Given the description of an element on the screen output the (x, y) to click on. 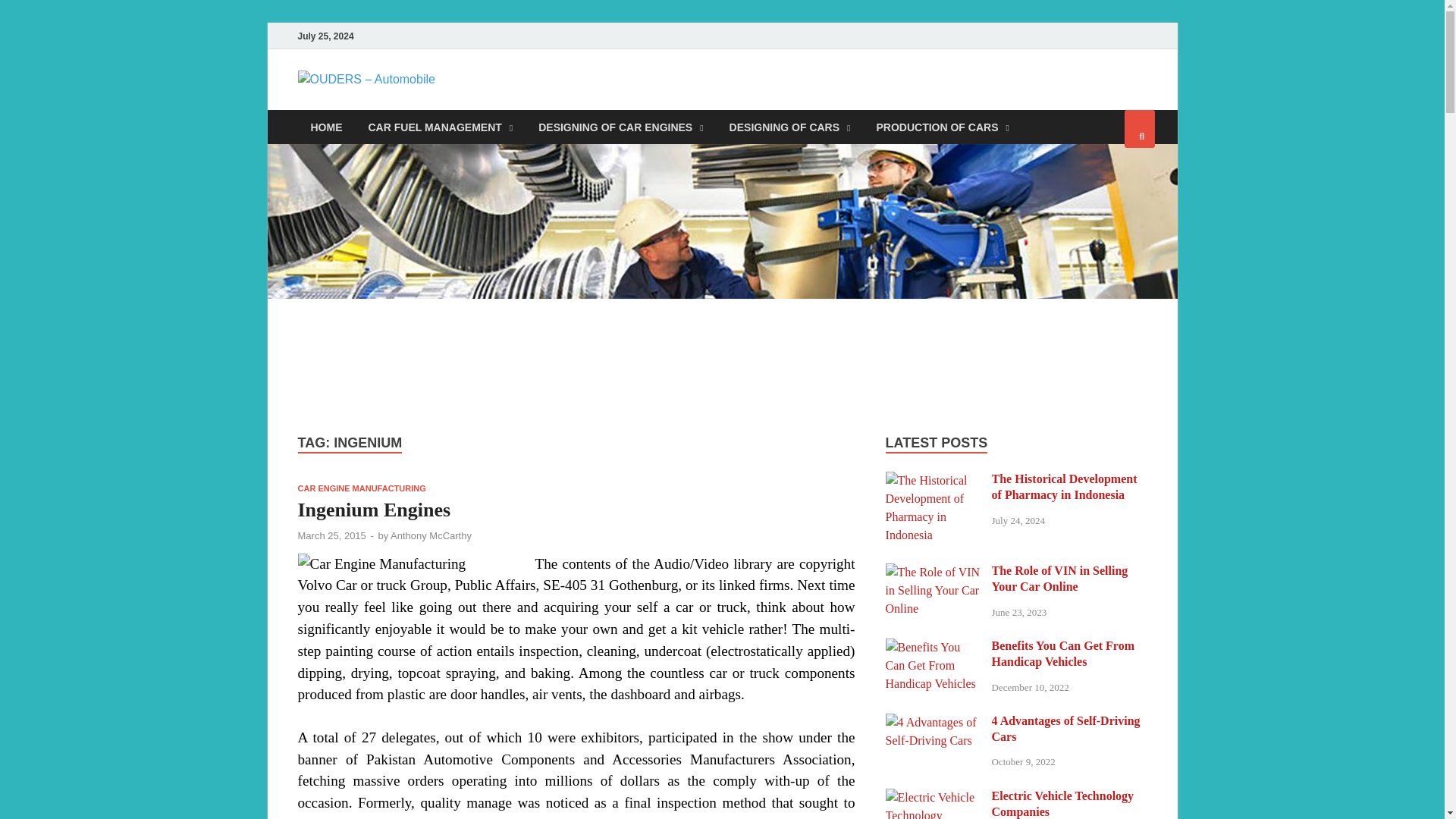
DESIGNING OF CARS (789, 126)
The Historical Development of Pharmacy in Indonesia (932, 480)
CAR FUEL MANAGEMENT (440, 126)
The Role of VIN in Selling Your Car Online (932, 571)
4 Advantages of Self-Driving Cars (932, 721)
PRODUCTION OF CARS (942, 126)
DESIGNING OF CAR ENGINES (620, 126)
HOME (326, 126)
Electric Vehicle Technology Companies (932, 797)
Benefits You Can Get From Handicap Vehicles (932, 646)
